Given the description of an element on the screen output the (x, y) to click on. 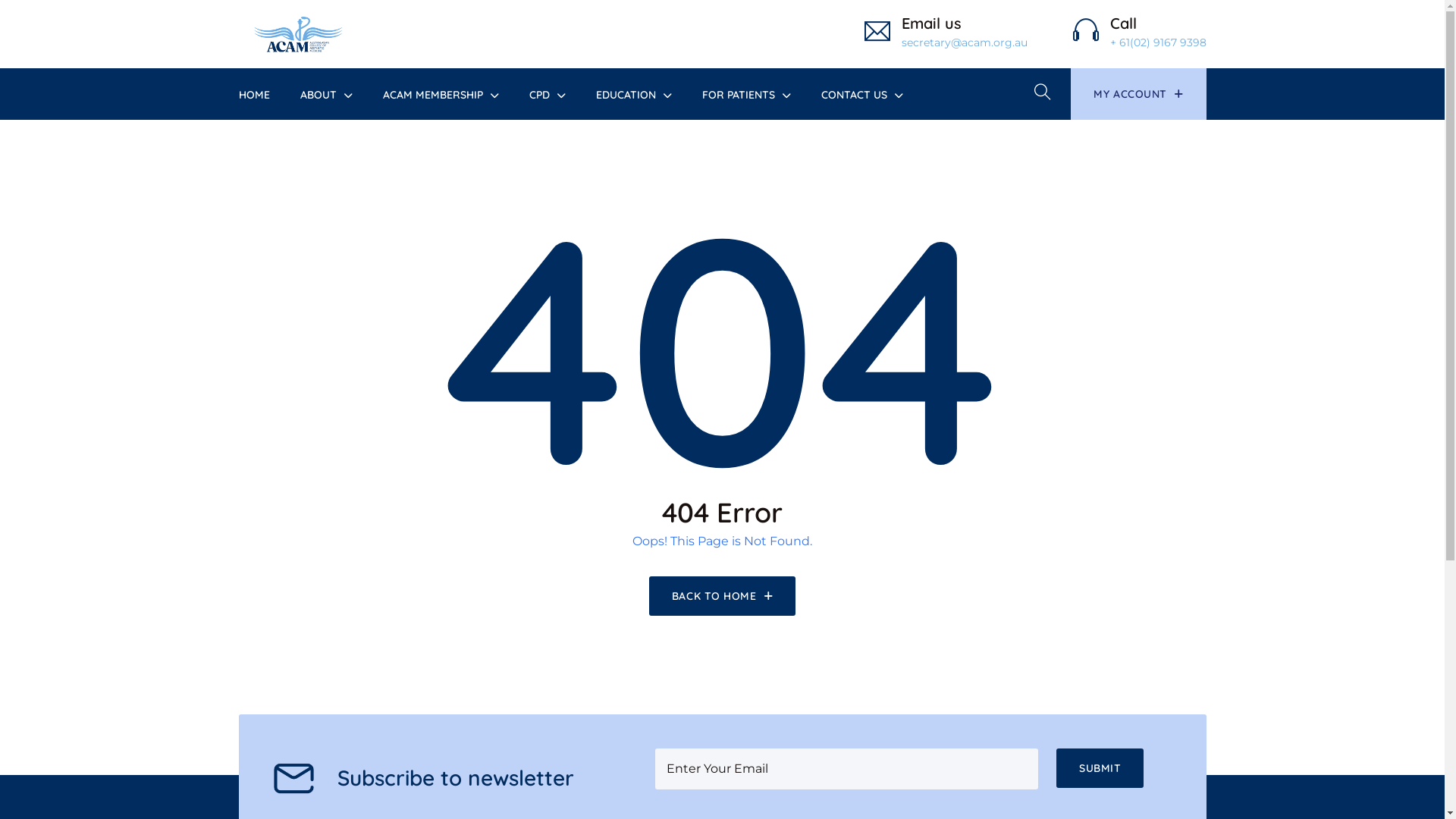
ACAM MEMBERSHIP Element type: text (432, 94)
ABOUT Element type: text (318, 94)
HOME Element type: text (253, 94)
Submit Element type: text (1099, 767)
FOR PATIENTS Element type: text (738, 94)
BACK TO HOME Element type: text (722, 595)
MY ACCOUNT Element type: text (1137, 93)
CONTACT US Element type: text (853, 94)
CPD Element type: text (539, 94)
EDUCATION Element type: text (625, 94)
